Given the description of an element on the screen output the (x, y) to click on. 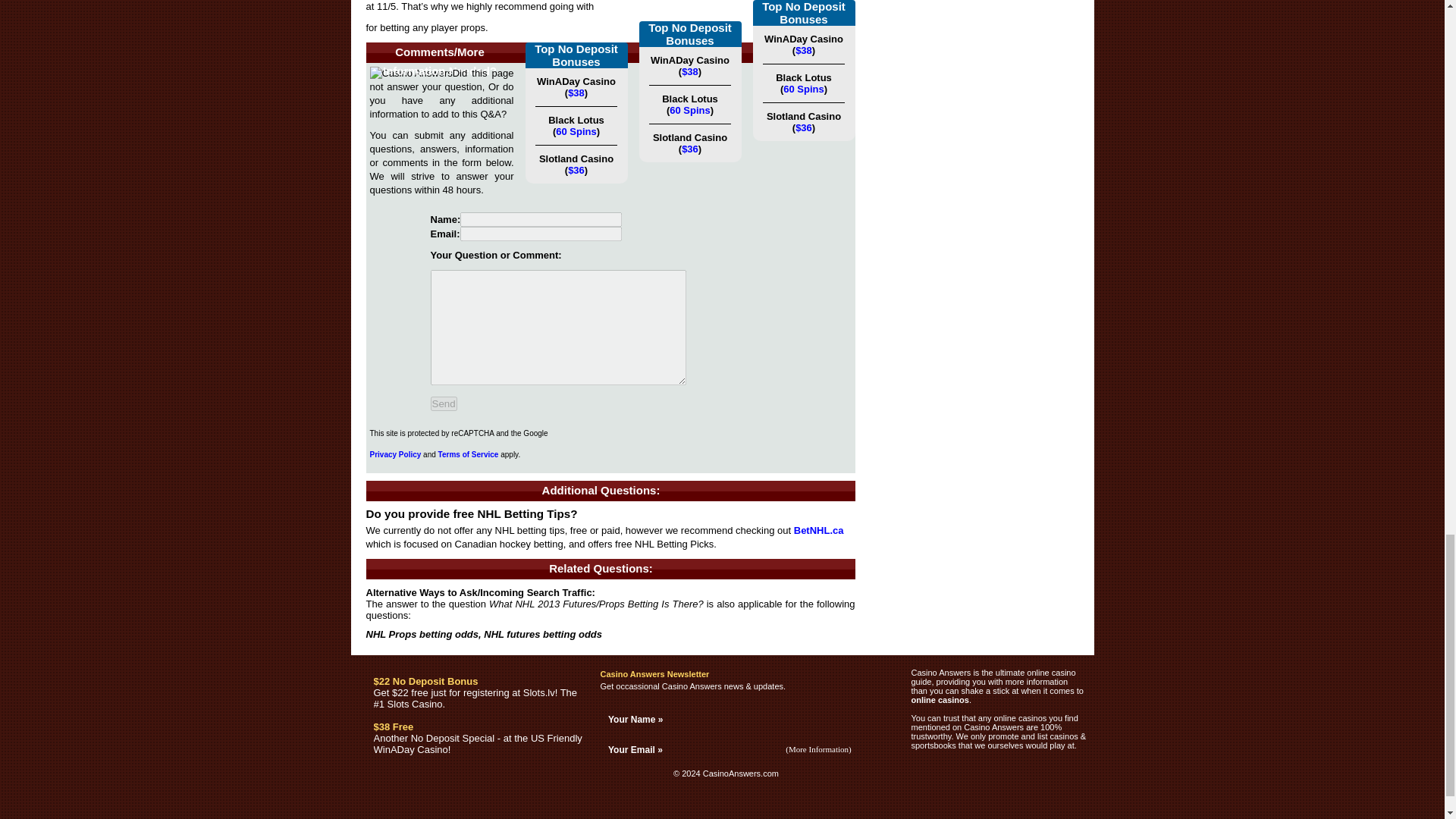
Send (443, 403)
